Given the description of an element on the screen output the (x, y) to click on. 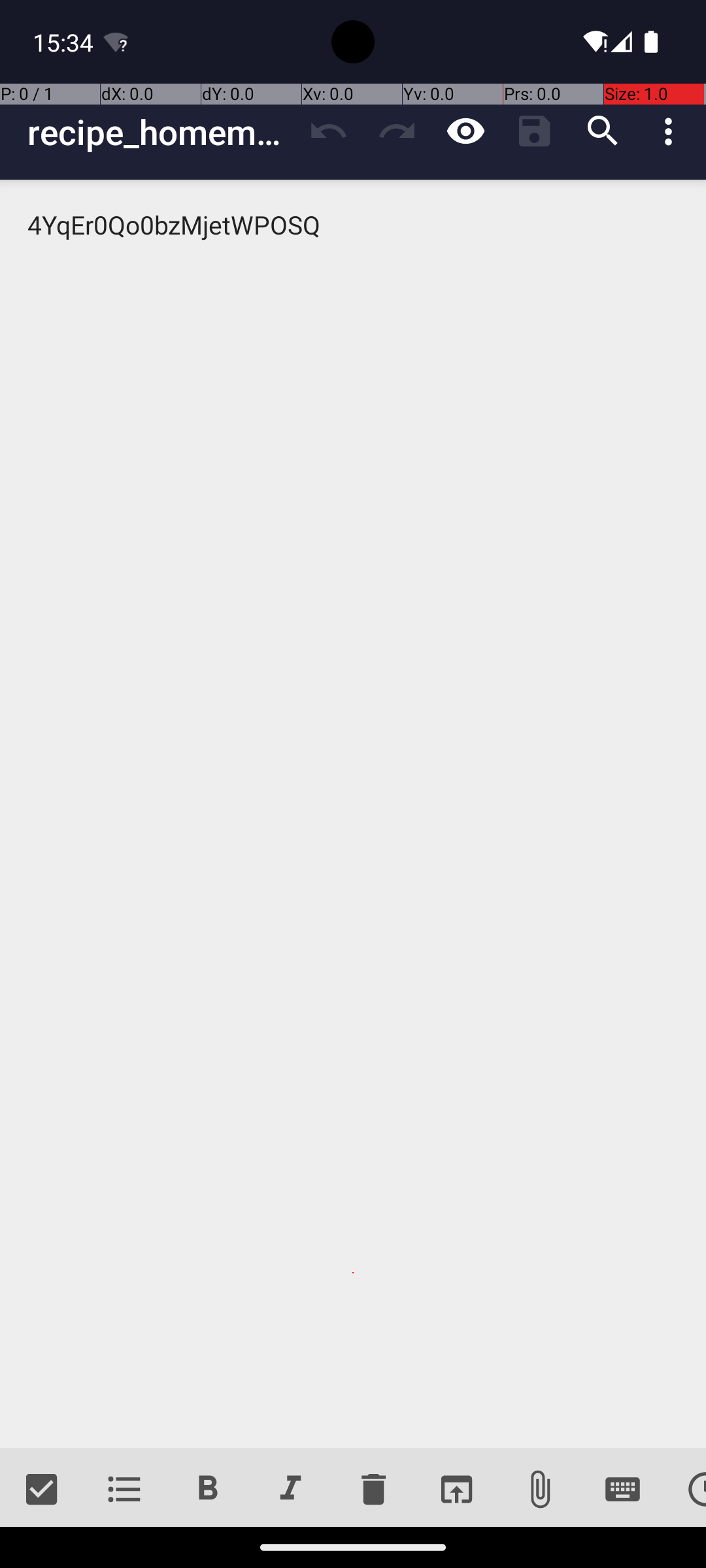
recipe_homemade_pizza_2023_10_06 Element type: android.widget.TextView (160, 131)
4YqEr0Qo0bzMjetWPOSQ
 Element type: android.widget.EditText (353, 813)
